Given the description of an element on the screen output the (x, y) to click on. 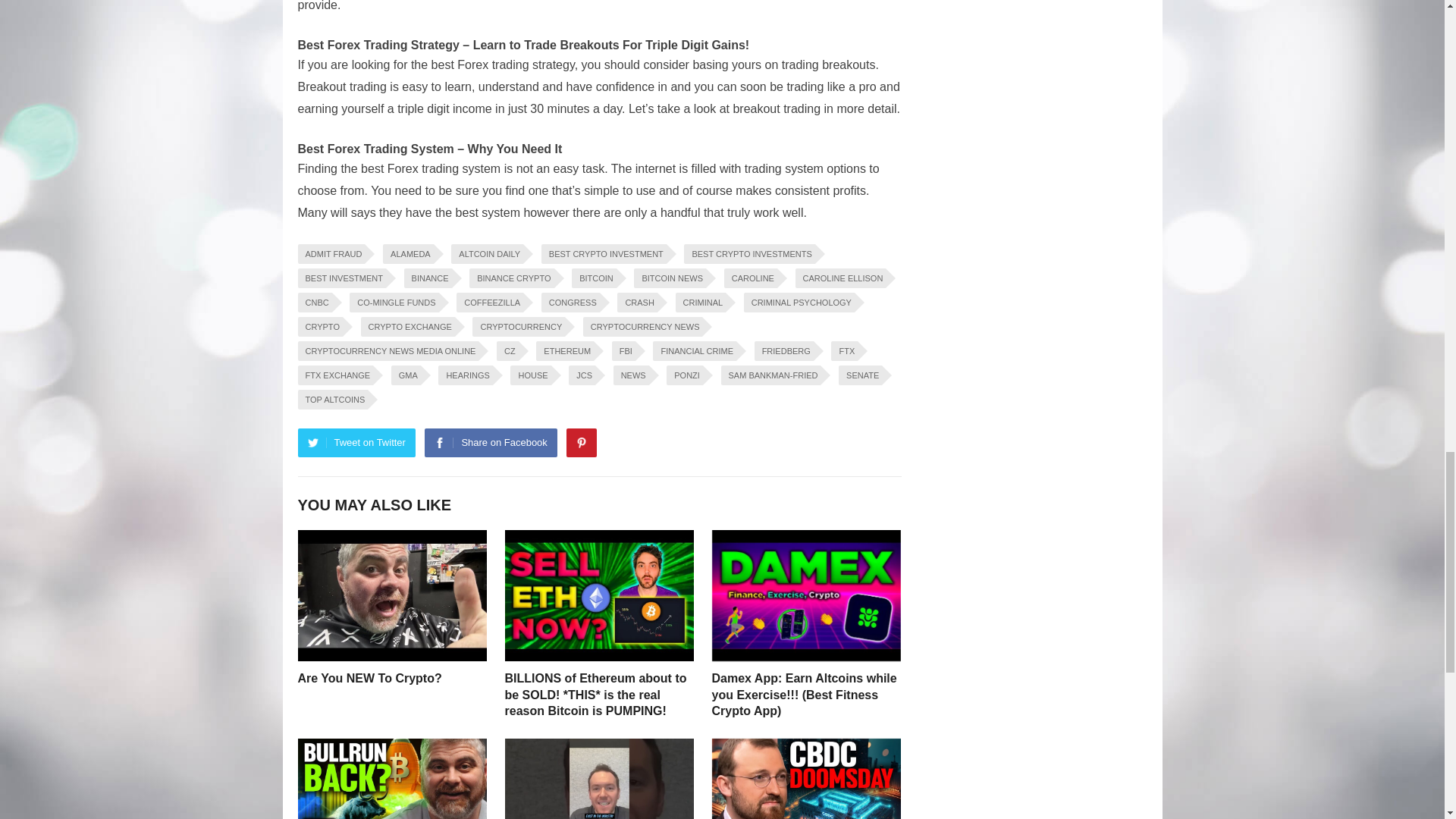
ALTCOIN DAILY (486, 253)
ADMIT FRAUD (331, 253)
BEST CRYPTO INVESTMENT (603, 253)
BINANCE (427, 278)
CAROLINE ELLISON (840, 278)
BINANCE CRYPTO (510, 278)
BEST INVESTMENT (341, 278)
Are You NEW To Crypto? 2 (391, 594)
BEST CRYPTO INVESTMENTS (748, 253)
BITCOIN NEWS (669, 278)
BITCOIN (593, 278)
ALAMEDA (407, 253)
CAROLINE (750, 278)
